Given the description of an element on the screen output the (x, y) to click on. 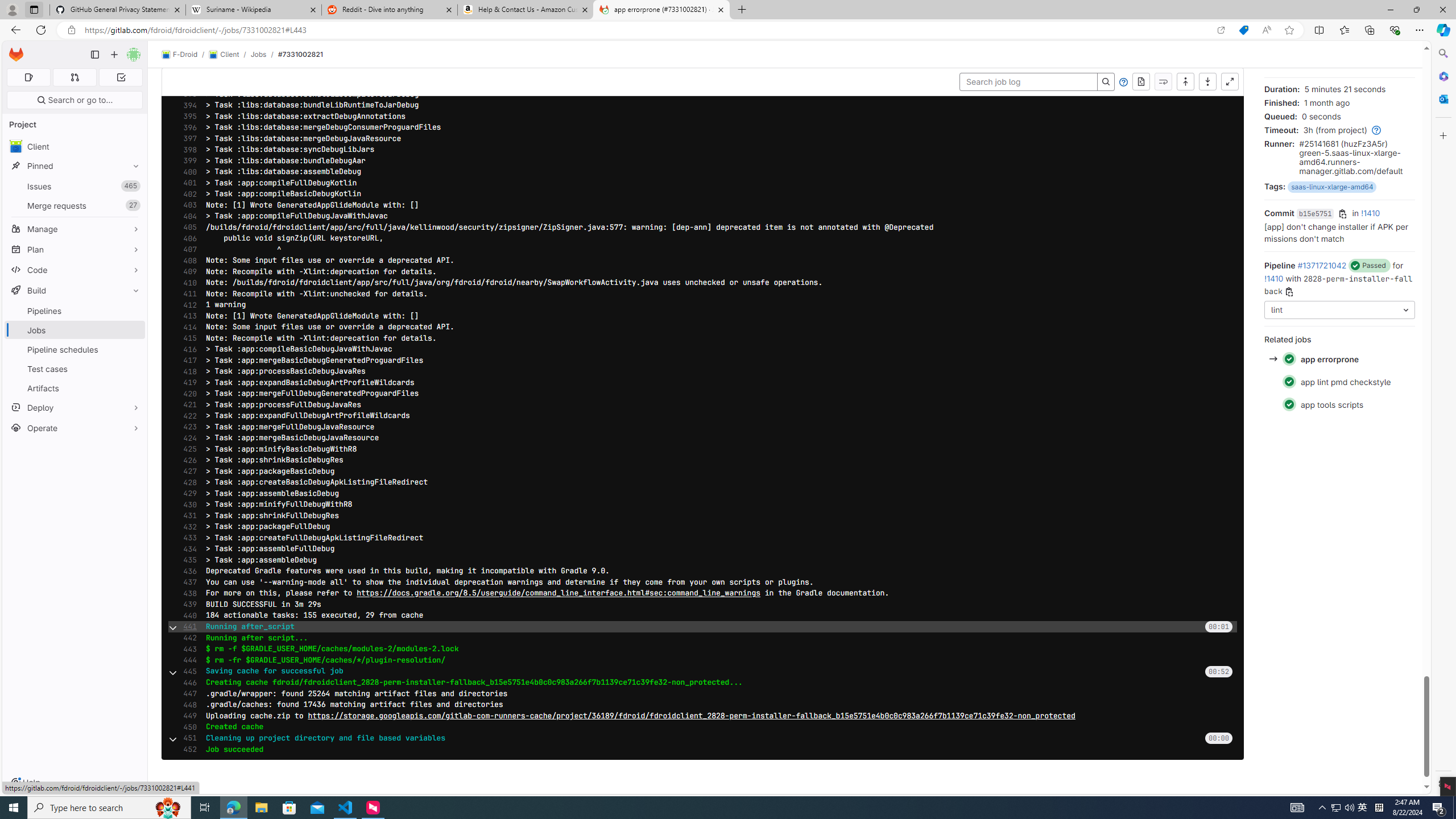
#1371721042 (1321, 265)
423 (186, 426)
435 (186, 559)
426 (186, 460)
Unpin Issues (132, 186)
Copy commit SHA (1342, 213)
421 (186, 404)
429 (186, 493)
Merge requests 0 (74, 76)
Scroll to top (1184, 81)
416 (186, 349)
